Given the description of an element on the screen output the (x, y) to click on. 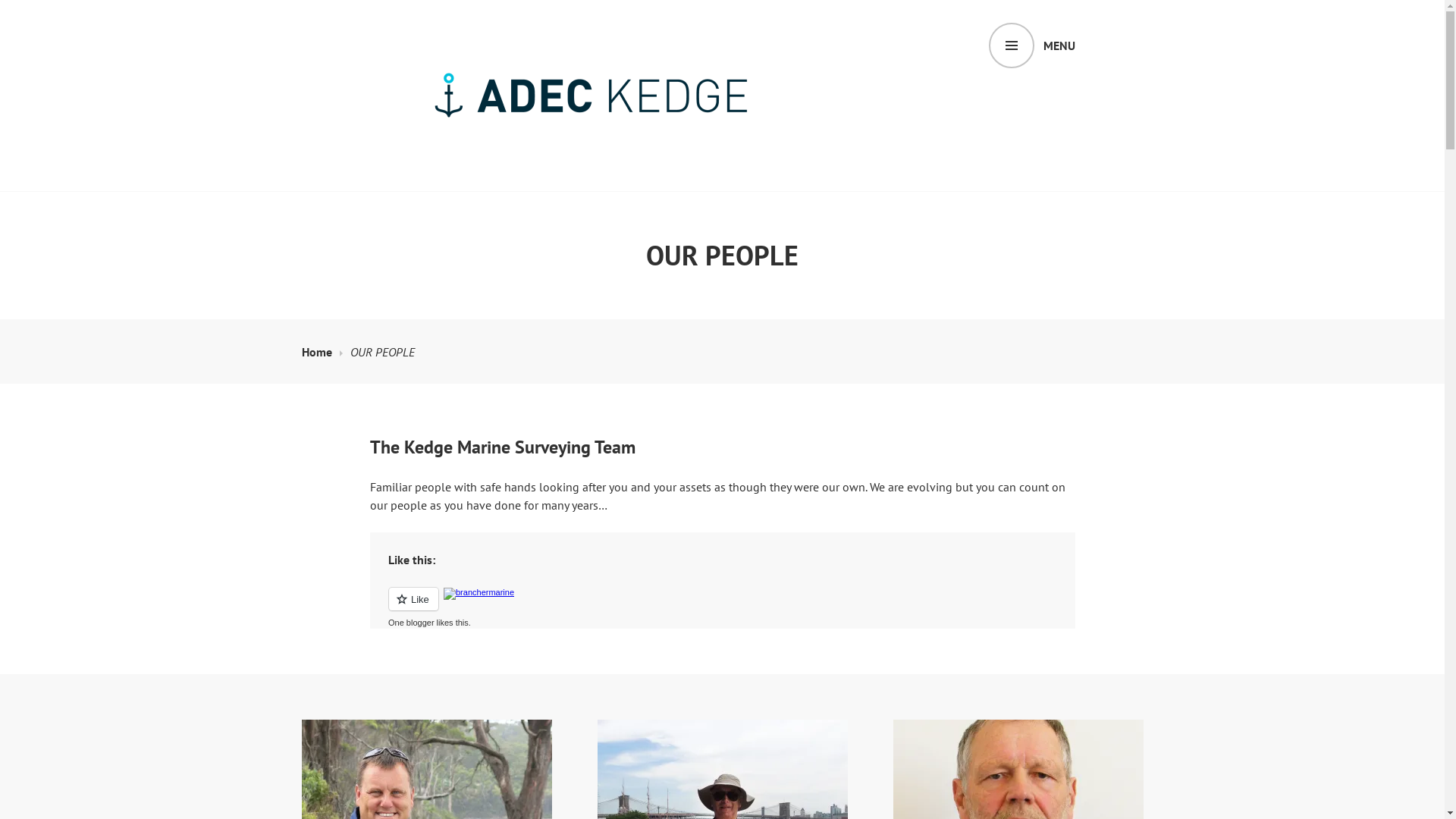
Home Element type: text (321, 352)
MENU Element type: text (1031, 45)
MARINE SURVEYORS, NAVAL ARCHITECTS AND ASSURANCE SPECIALISTS Element type: text (756, 211)
Like or Reblog Element type: hover (722, 607)
